Given the description of an element on the screen output the (x, y) to click on. 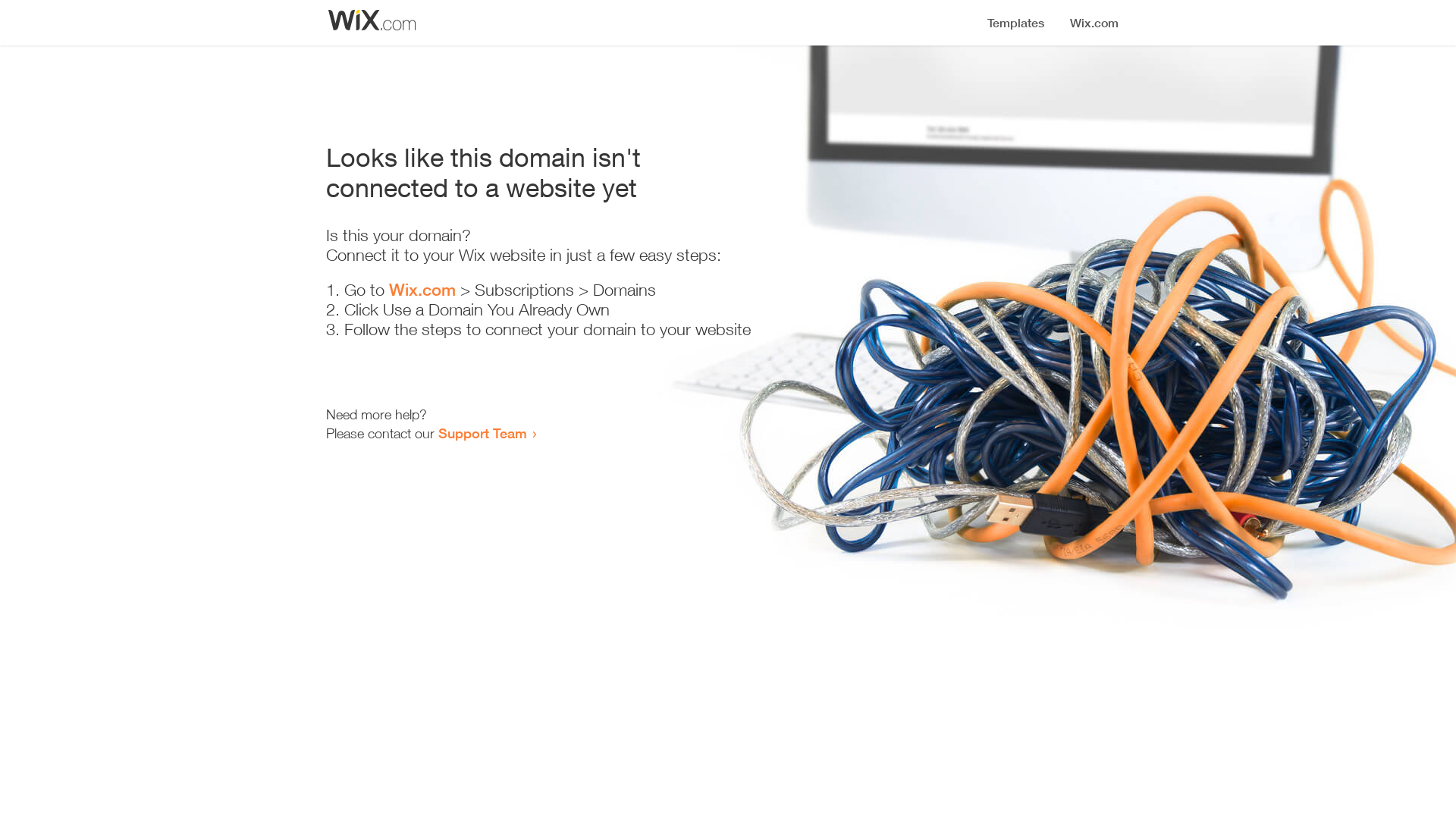
Wix.com Element type: text (422, 289)
Support Team Element type: text (482, 432)
